Given the description of an element on the screen output the (x, y) to click on. 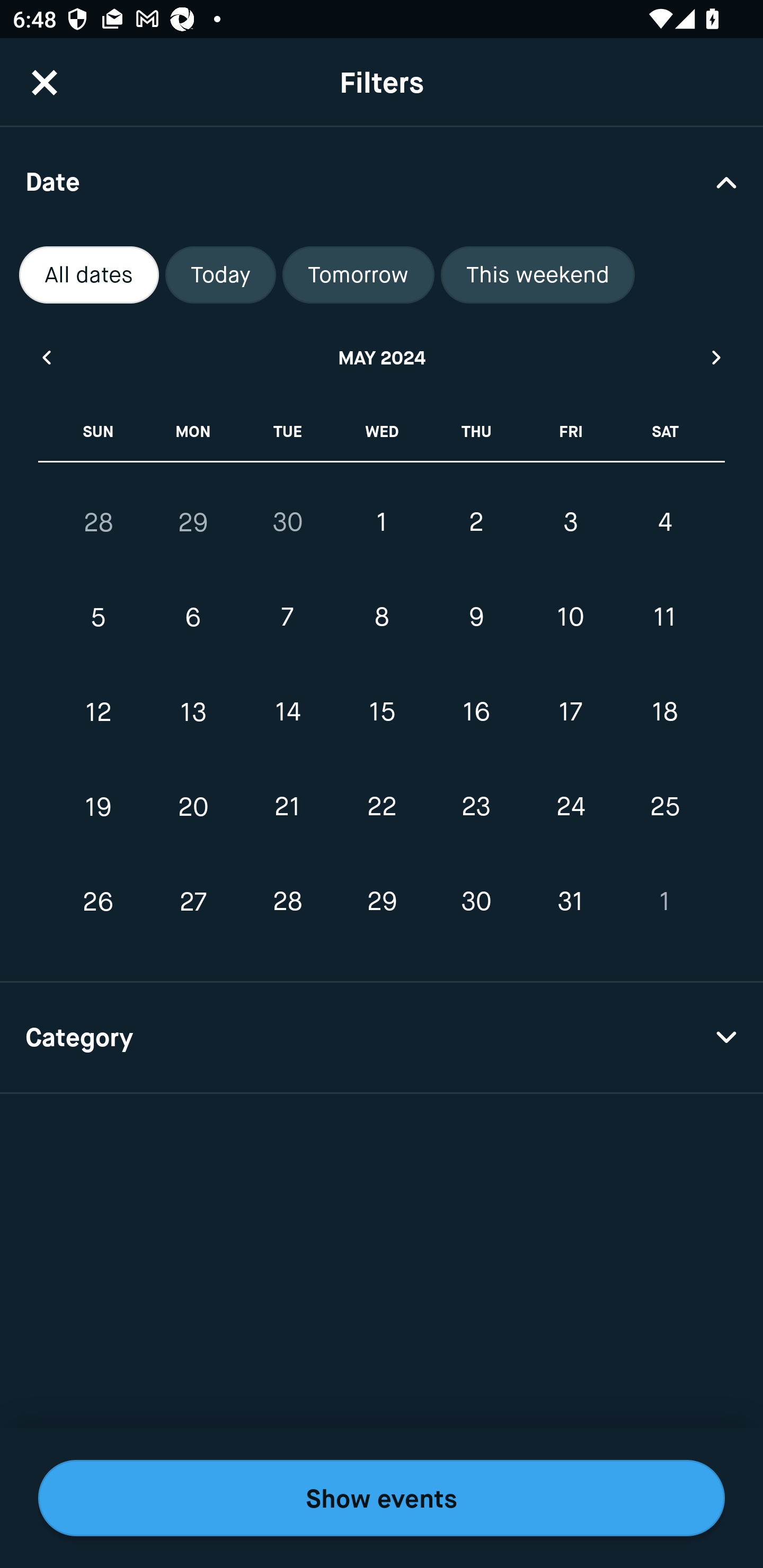
CloseButton (44, 82)
Date Drop Down Arrow (381, 181)
All dates (88, 274)
Today (220, 274)
Tomorrow (358, 274)
This weekend (537, 274)
Previous (45, 357)
Next (717, 357)
28 (98, 522)
29 (192, 522)
30 (287, 522)
1 (381, 522)
2 (475, 522)
3 (570, 522)
4 (664, 522)
5 (98, 617)
6 (192, 617)
7 (287, 617)
8 (381, 617)
9 (475, 617)
10 (570, 617)
11 (664, 617)
12 (98, 711)
13 (192, 711)
14 (287, 711)
15 (381, 711)
16 (475, 711)
17 (570, 711)
18 (664, 711)
19 (98, 806)
20 (192, 806)
21 (287, 806)
22 (381, 806)
23 (475, 806)
24 (570, 806)
25 (664, 806)
26 (98, 901)
27 (192, 901)
28 (287, 901)
29 (381, 901)
30 (475, 901)
31 (570, 901)
1 (664, 901)
Category Drop Down Arrow (381, 1038)
Show events (381, 1497)
